Given the description of an element on the screen output the (x, y) to click on. 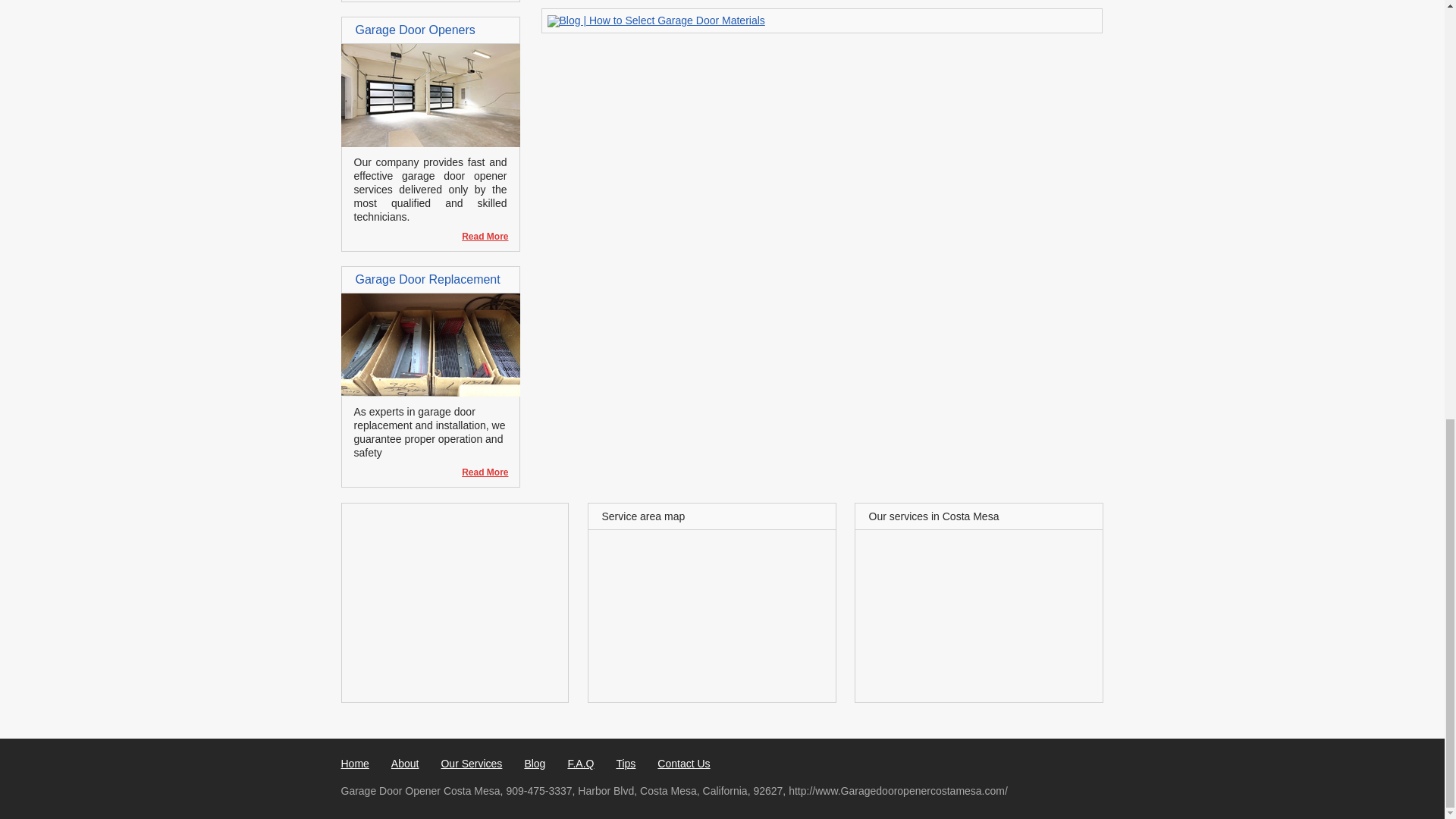
Garage Door Replacement (427, 278)
Banner (656, 20)
Garage Door Replacement (429, 392)
Our Services (471, 763)
Read More (477, 472)
Garage Door Openers (429, 143)
Home (354, 763)
Blog (534, 763)
About (405, 763)
Read More (477, 236)
Read More (477, 236)
Garage Door Openers (414, 29)
Read More (477, 472)
